Given the description of an element on the screen output the (x, y) to click on. 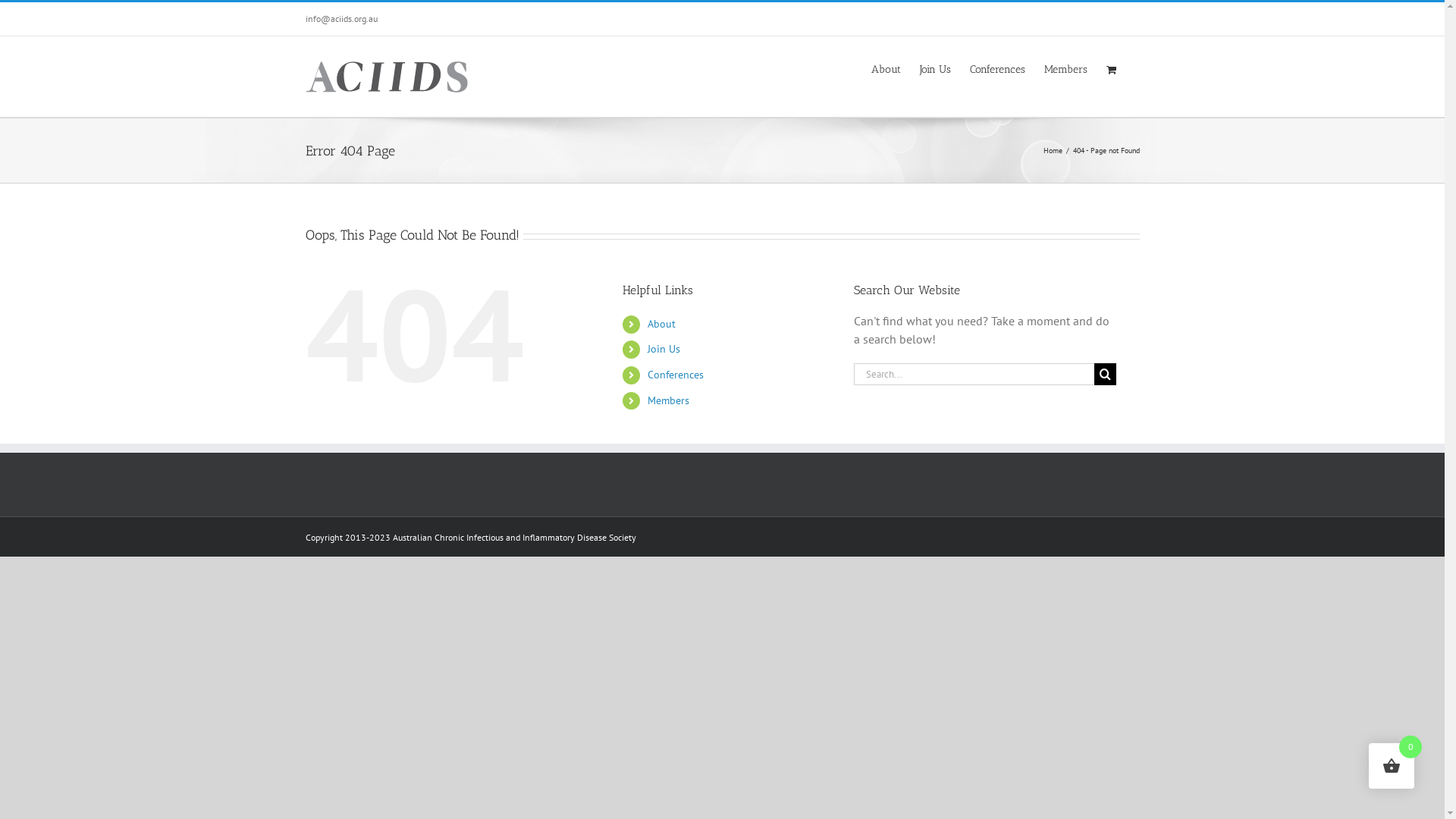
About Element type: text (661, 323)
Conferences Element type: text (675, 374)
Home Element type: text (1052, 150)
Join Us Element type: text (934, 68)
Members Element type: text (668, 400)
info@aciids.org.au Element type: text (340, 18)
About Element type: text (885, 68)
Members Element type: text (1064, 68)
Join Us Element type: text (663, 348)
Conferences Element type: text (996, 68)
